Given the description of an element on the screen output the (x, y) to click on. 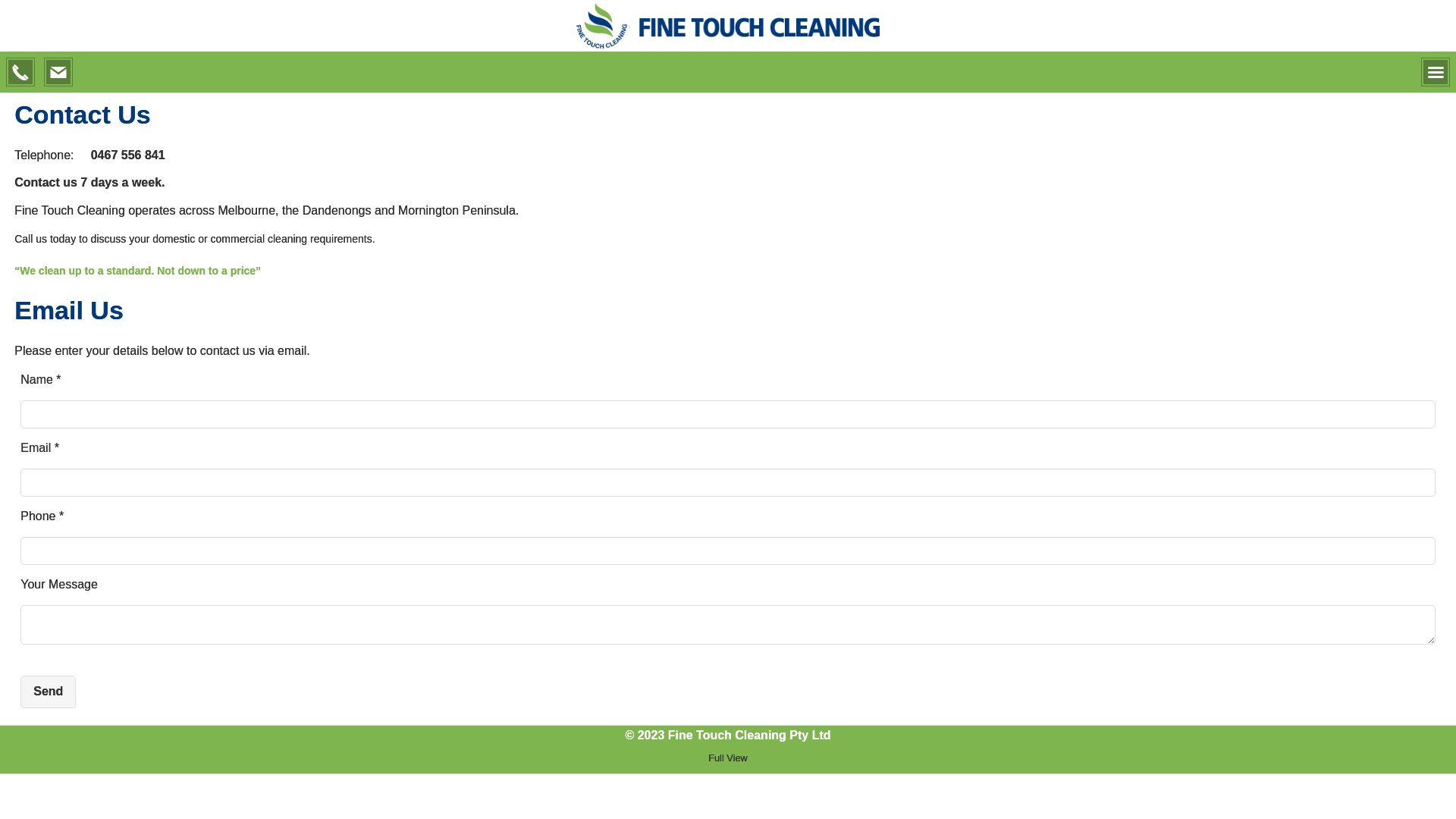
CALL Element type: text (20, 71)
Full View Element type: text (727, 758)
Send Element type: hover (48, 691)
Send Element type: text (48, 691)
Menu Element type: text (1435, 71)
EMAIL Element type: text (57, 71)
